Given the description of an element on the screen output the (x, y) to click on. 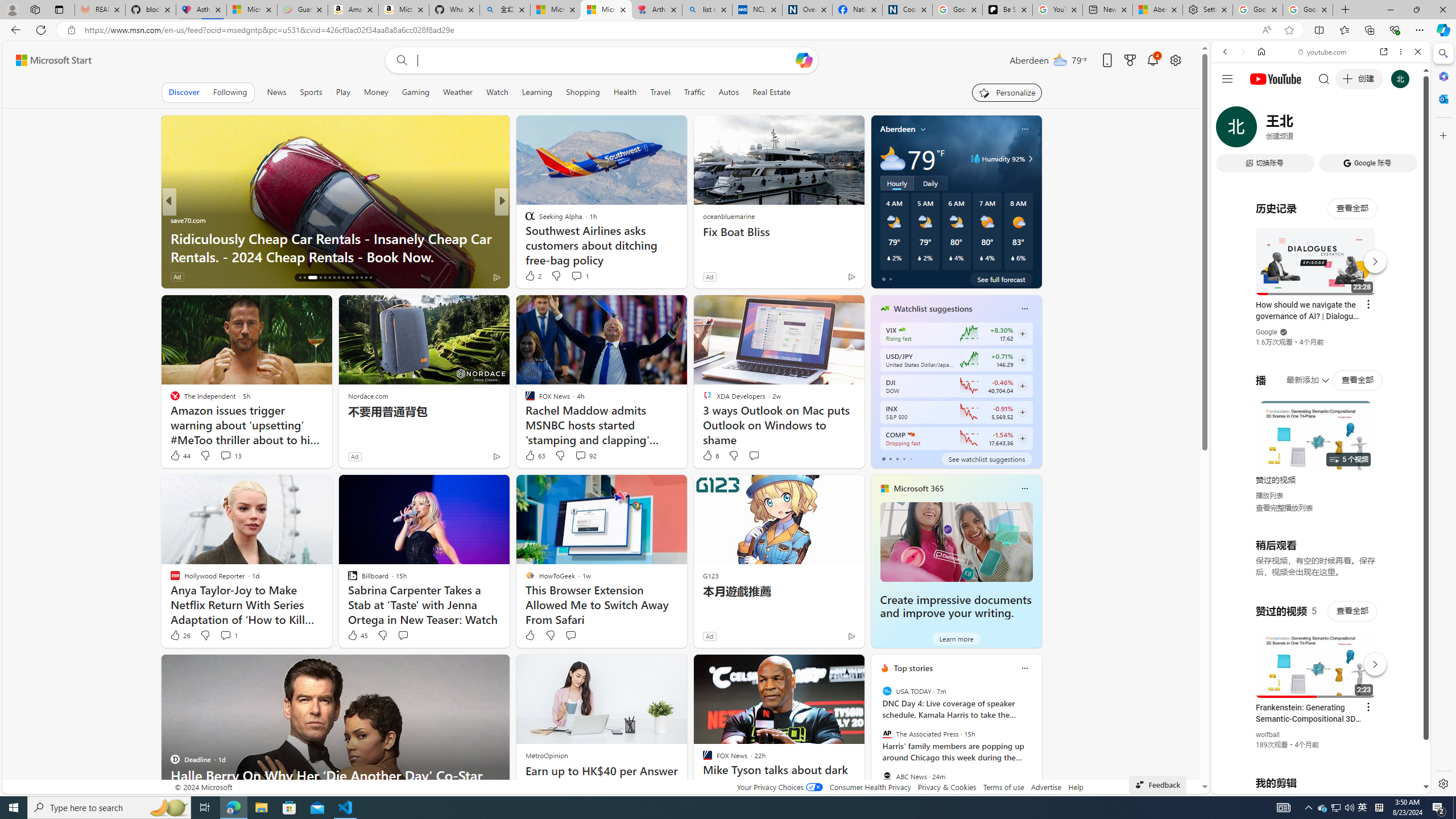
Scripps News (524, 219)
AutomationID: tab-21 (329, 277)
310 Like (532, 276)
Enter your search term (603, 59)
Trailer #2 [HD] (1320, 336)
Sports (310, 92)
USA TODAY (886, 691)
My location (922, 128)
